Given the description of an element on the screen output the (x, y) to click on. 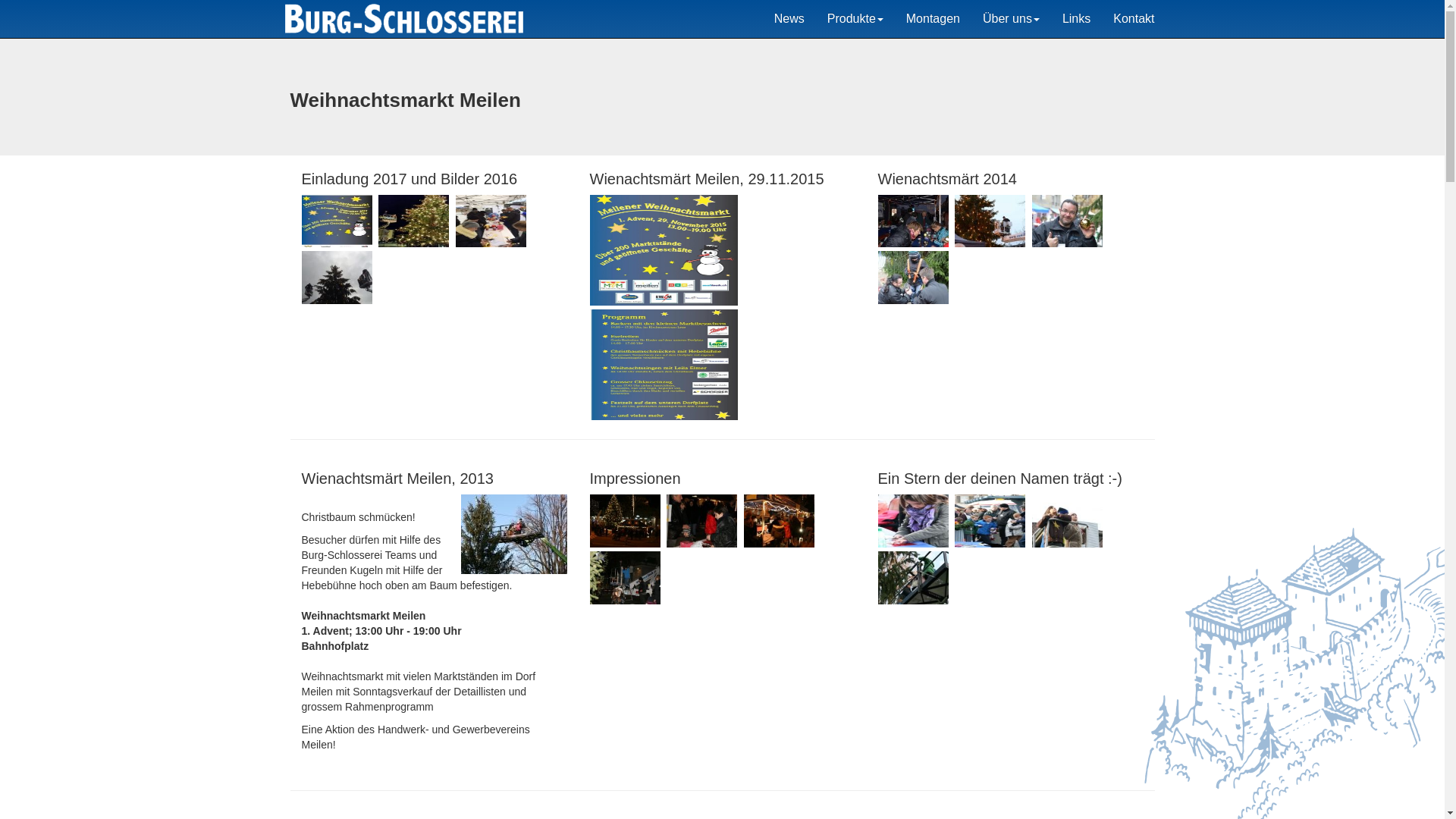
Kontakt Element type: text (1133, 18)
News Element type: text (788, 18)
Produkte Element type: text (854, 18)
Montagen Element type: text (932, 18)
Links Element type: text (1076, 18)
